Given the description of an element on the screen output the (x, y) to click on. 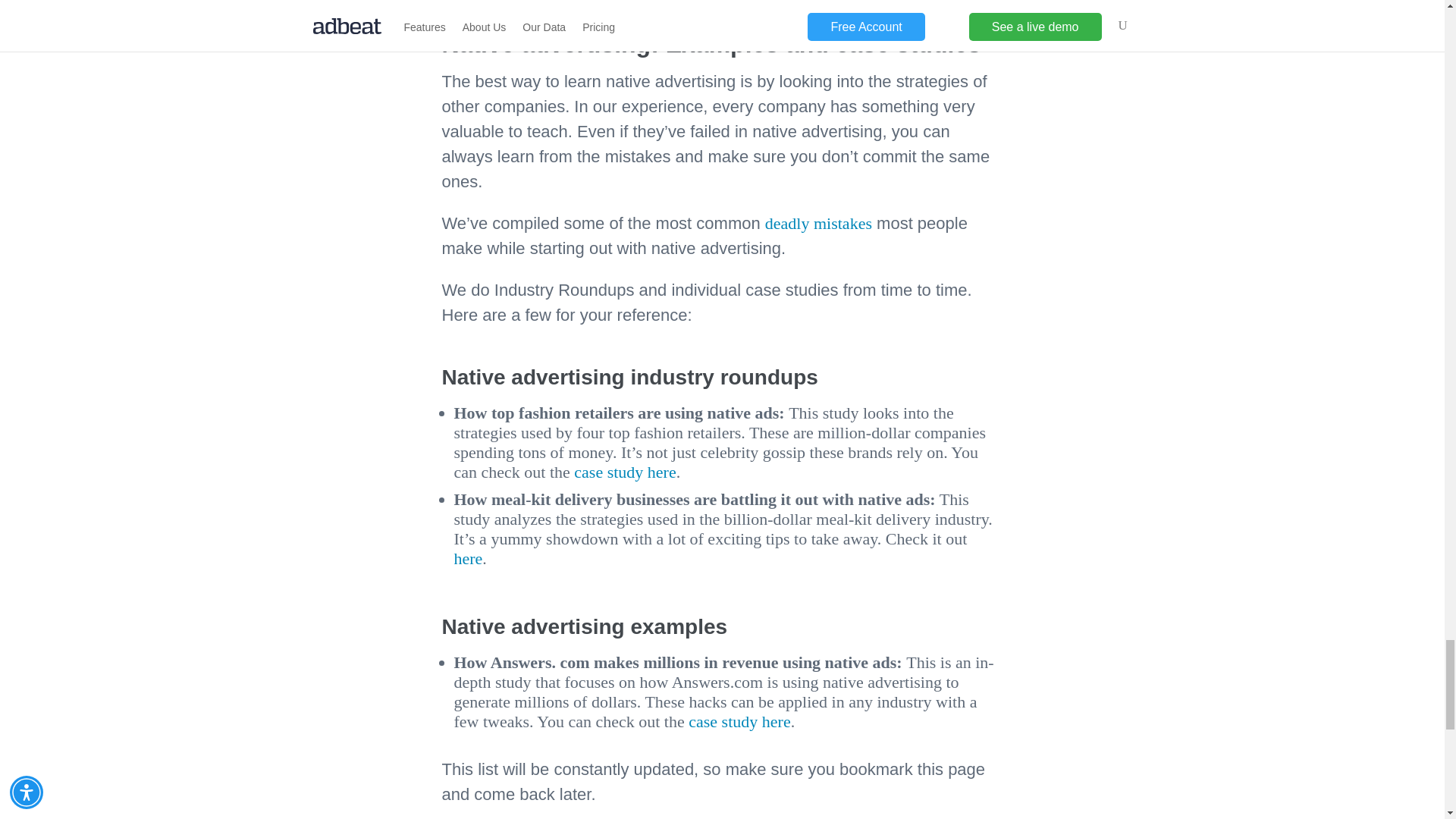
deadly mistakes (818, 222)
here (775, 721)
case study here (624, 471)
case stud (718, 721)
here (466, 558)
